Given the description of an element on the screen output the (x, y) to click on. 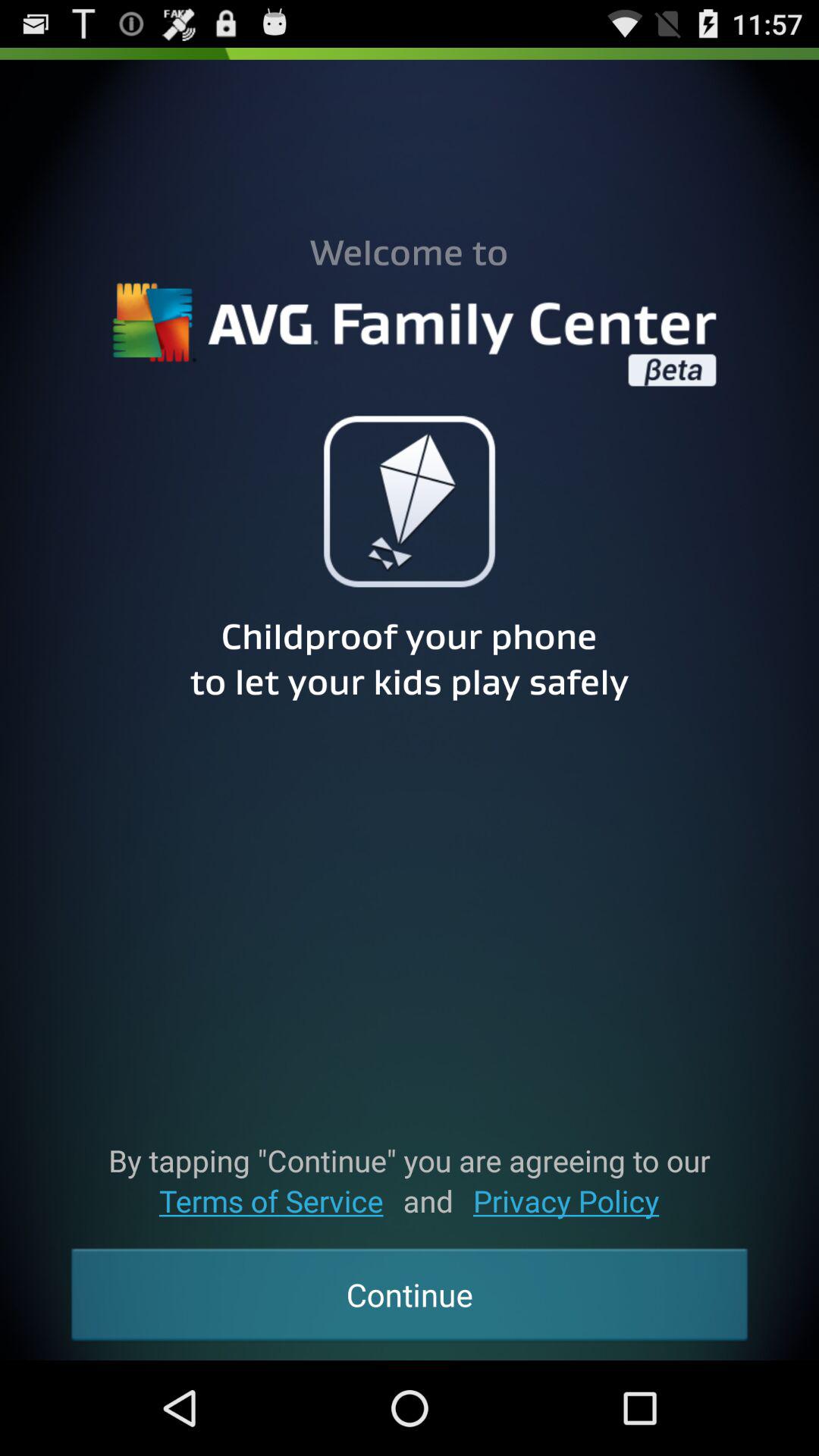
select the item to the right of and (566, 1200)
